Given the description of an element on the screen output the (x, y) to click on. 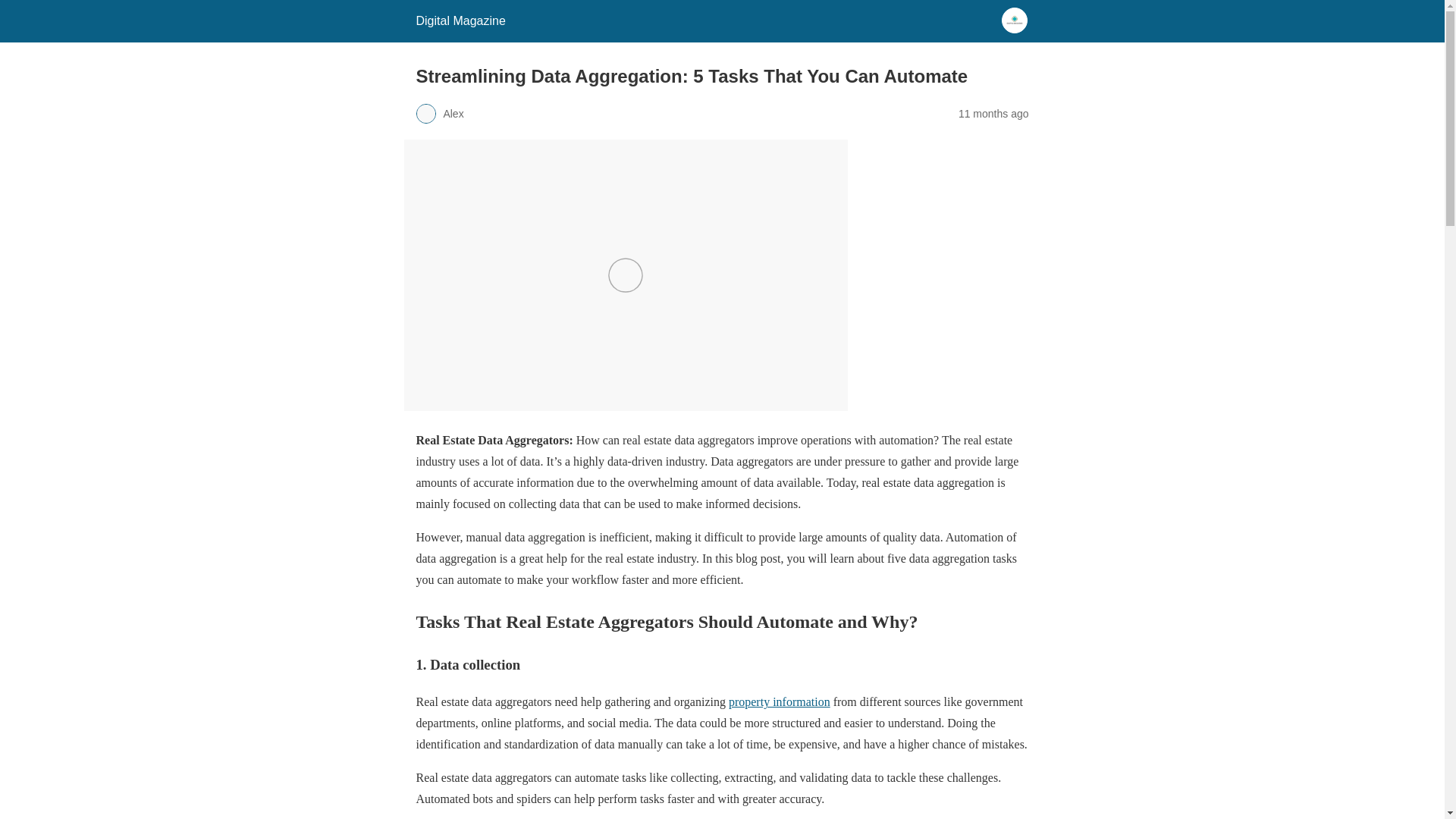
property information (779, 701)
Digital Magazine (459, 20)
